Given the description of an element on the screen output the (x, y) to click on. 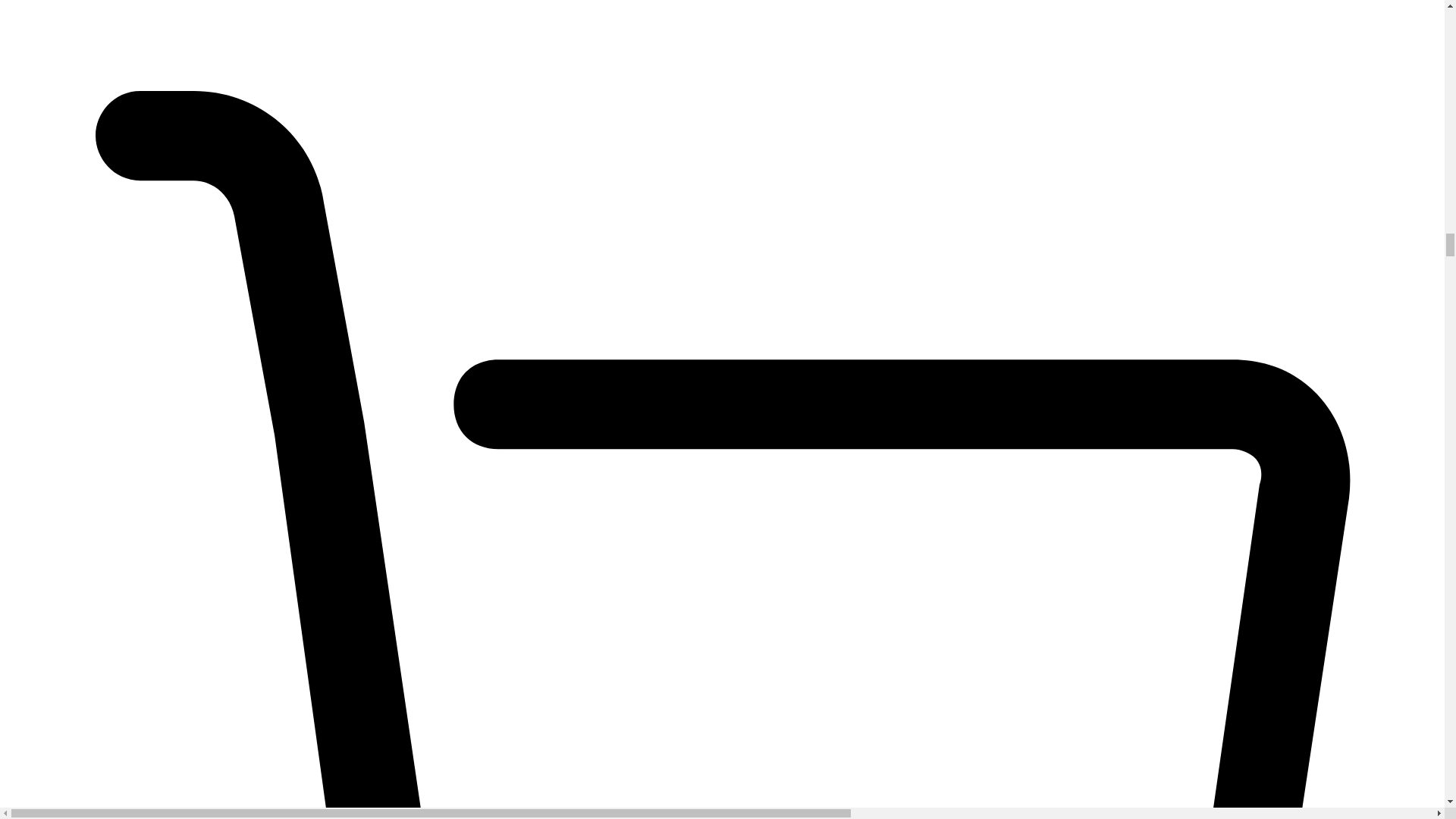
About Us (28, 0)
